Given the description of an element on the screen output the (x, y) to click on. 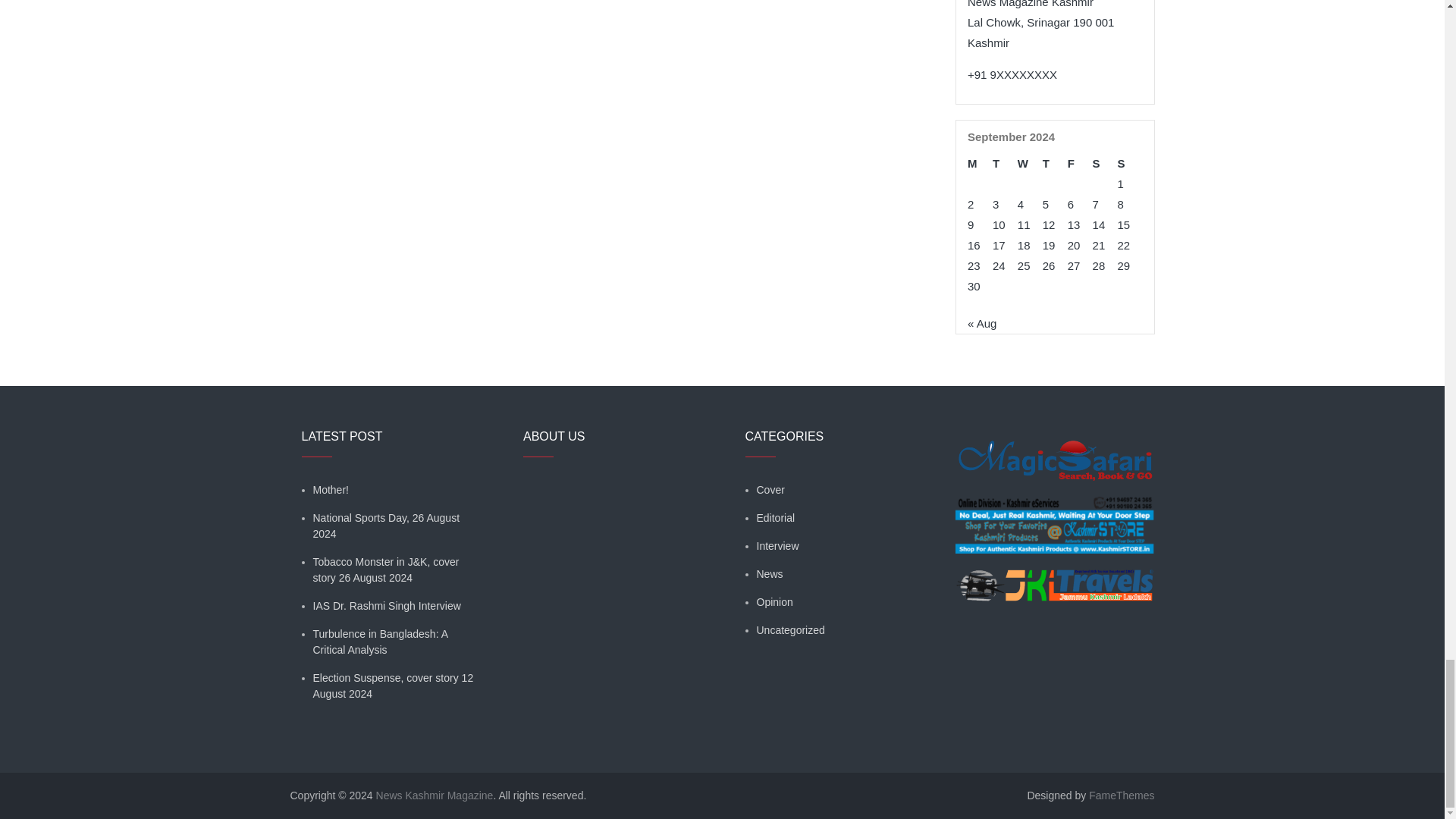
Thursday (1054, 163)
Wednesday (1029, 163)
262x220 Ads (1054, 451)
Tuesday (1004, 163)
262x220 Ads (1054, 516)
Monday (980, 163)
262x220 Ads (1054, 576)
Sunday (1130, 163)
Saturday (1105, 163)
Friday (1080, 163)
